Given the description of an element on the screen output the (x, y) to click on. 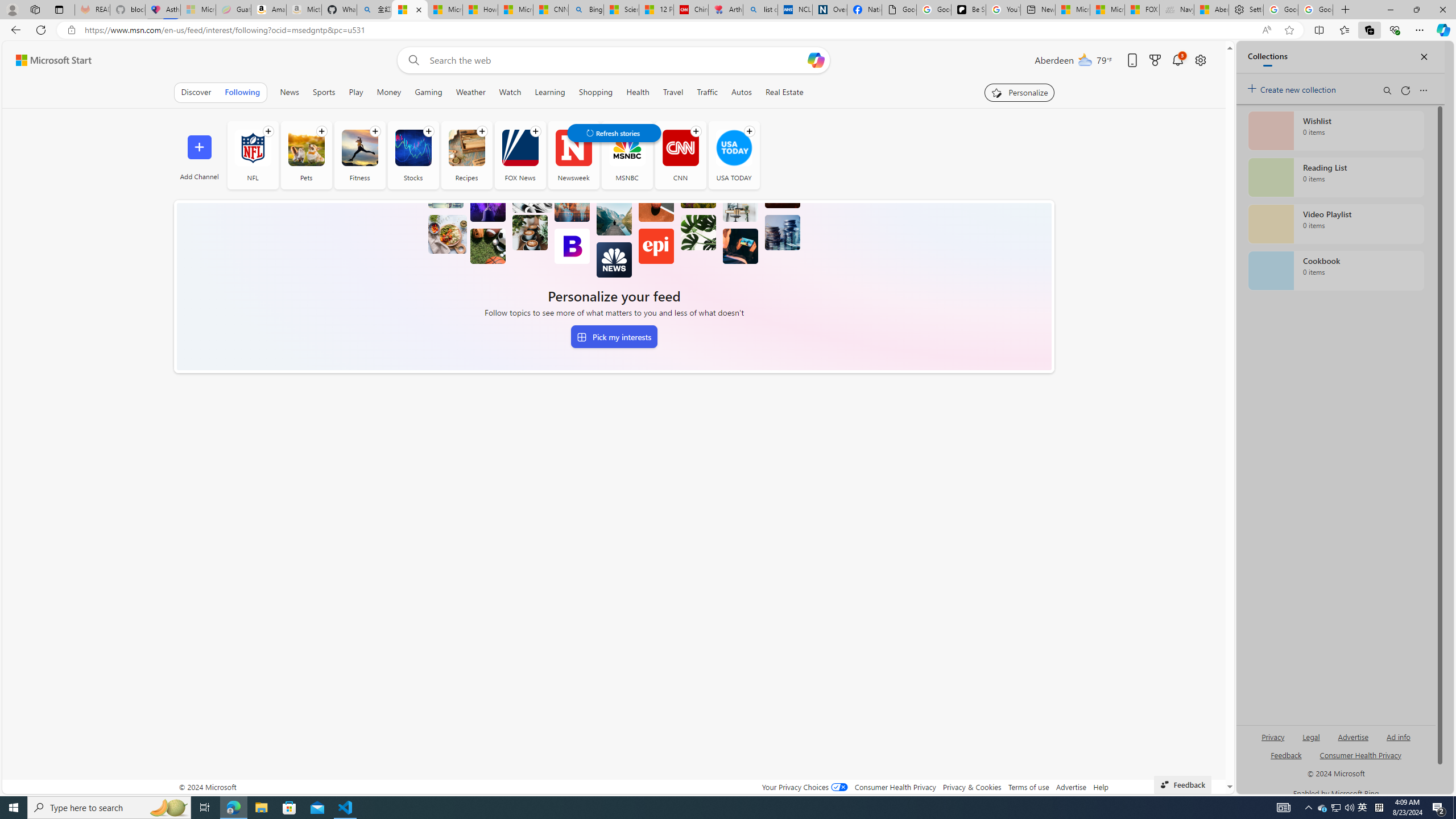
Stocks (412, 147)
Traffic (707, 92)
Navy Quest (1176, 9)
How I Got Rid of Microsoft Edge's Unnecessary Features (479, 9)
Health (637, 92)
NCL Adult Asthma Inhaler Choice Guideline (794, 9)
CNN (680, 147)
Sports (323, 92)
Real Estate (784, 92)
list of asthma inhalers uk - Search (760, 9)
Follow channel (749, 130)
Real Estate (784, 92)
